Given the description of an element on the screen output the (x, y) to click on. 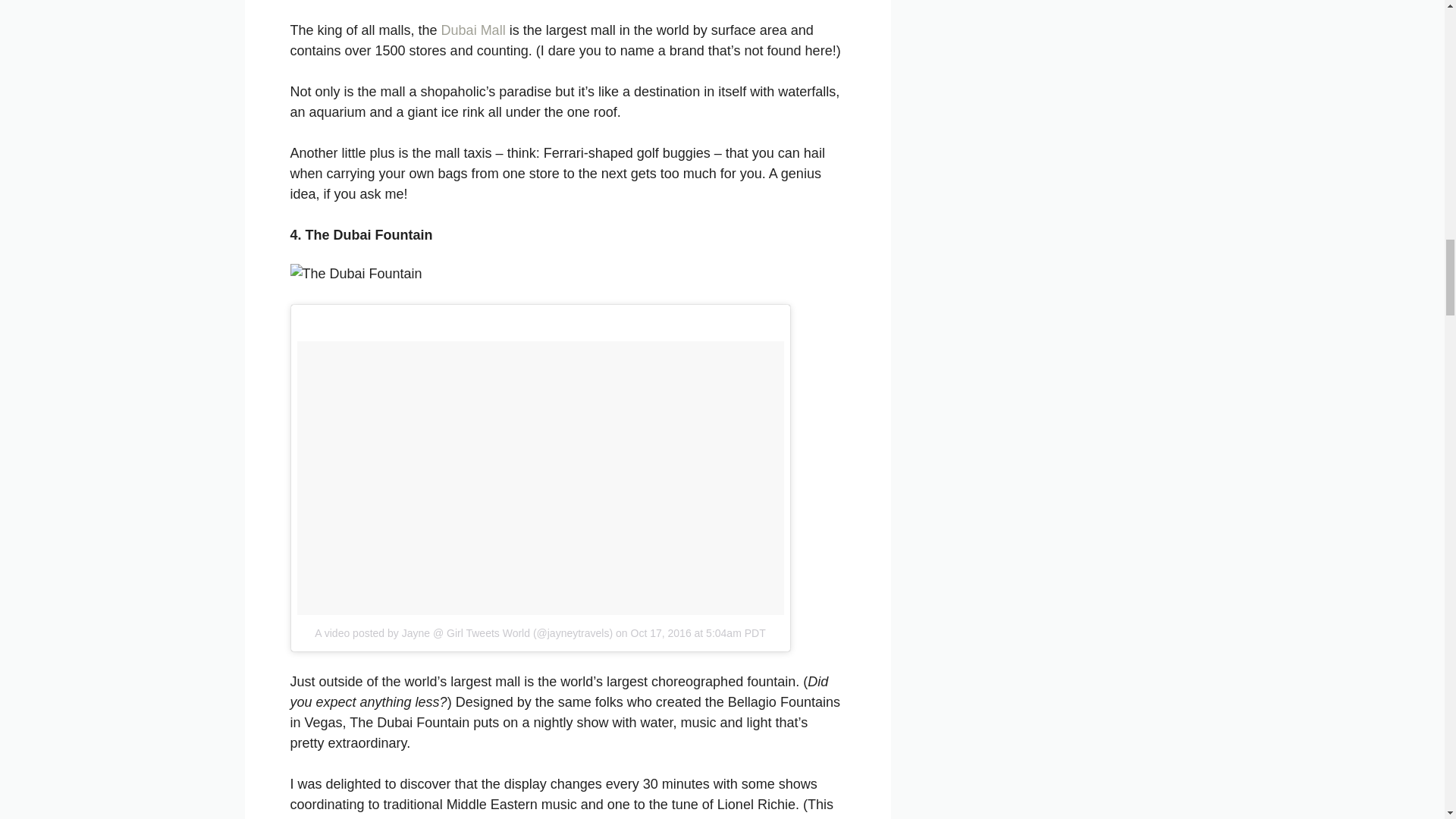
Serafina (776, 818)
Dubai Mall (473, 29)
